Given the description of an element on the screen output the (x, y) to click on. 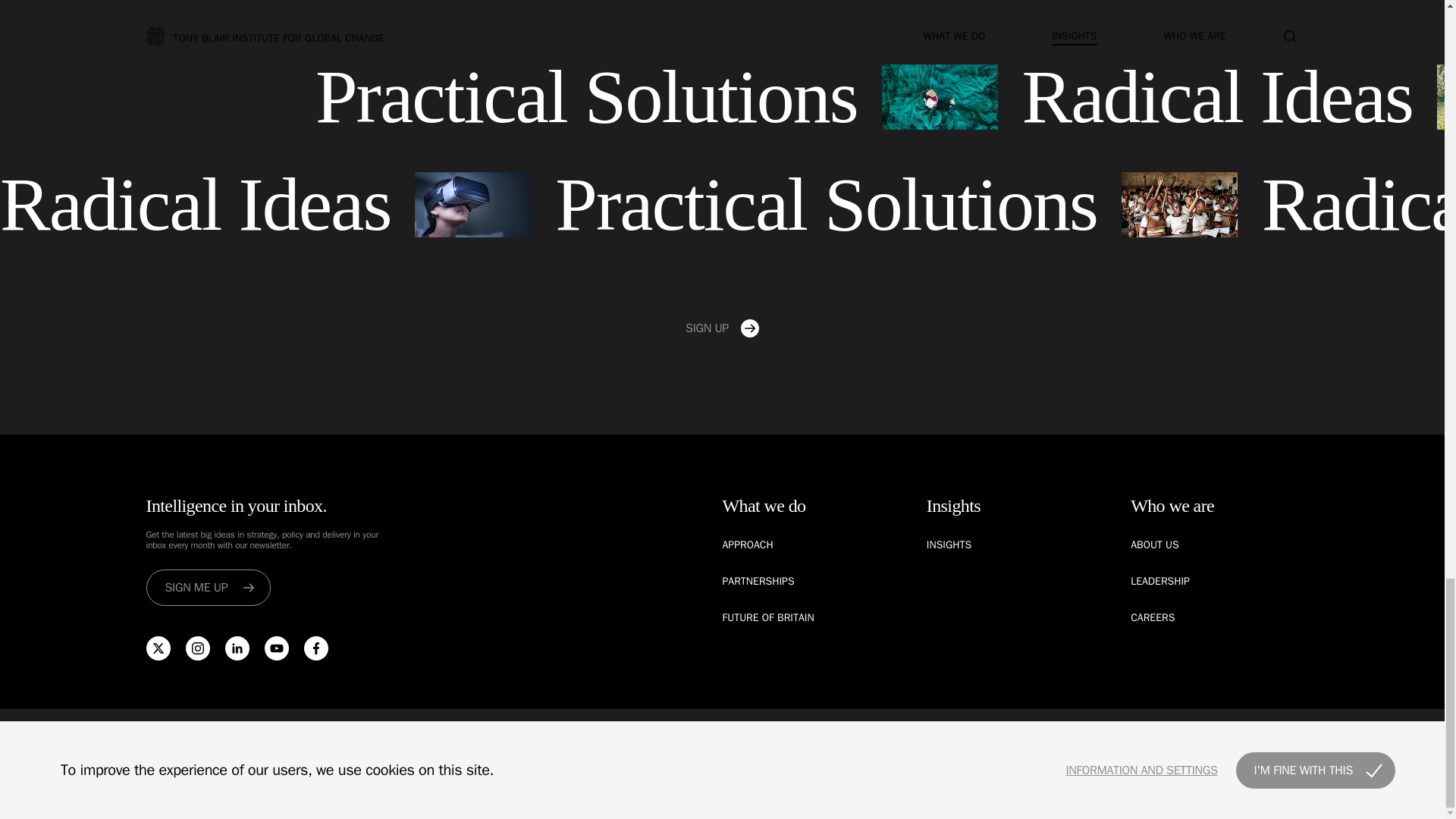
TERMS OF USE (813, 744)
FUTURE OF BRITAIN (767, 617)
SIGN ME UP (207, 587)
ABOUT US (1155, 544)
linkedin (236, 648)
youtube (275, 648)
instagram (196, 648)
PRIVACY POLICY (901, 744)
Sign Me Up (207, 587)
CAREERS (1152, 617)
COOKIES (739, 744)
Sign up (721, 328)
INSIGHTS (948, 544)
APPROACH (747, 544)
ACCESSIBILITY (988, 744)
